Given the description of an element on the screen output the (x, y) to click on. 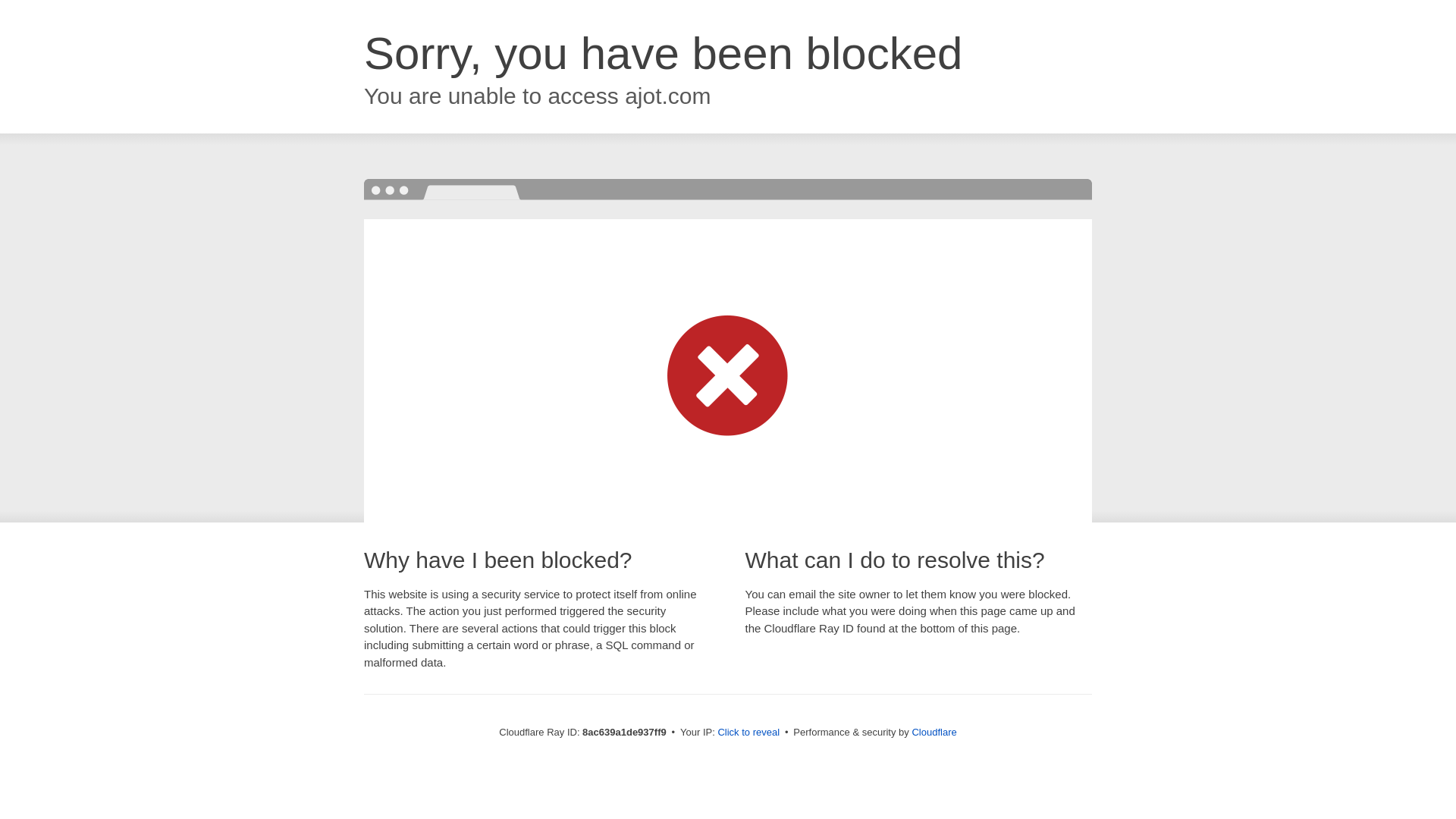
Click to reveal (747, 732)
Cloudflare (933, 731)
